Given the description of an element on the screen output the (x, y) to click on. 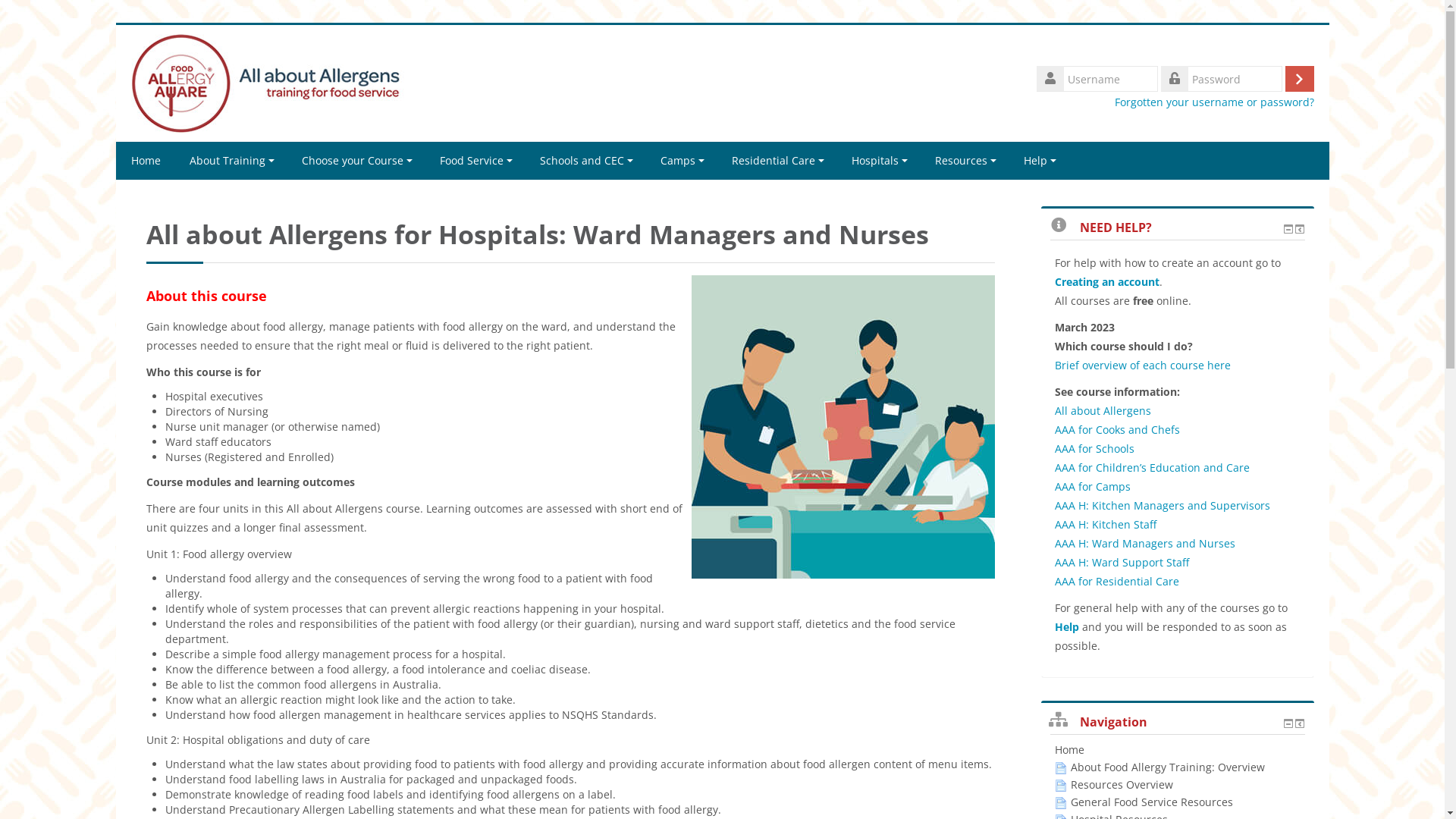
Creating an account Element type: text (1106, 281)
Home Element type: hover (270, 82)
Brief overview of each course here Element type: text (1142, 364)
All about Allergens Element type: text (1102, 410)
Page Element type: hover (1060, 785)
Page Element type: hover (1060, 803)
AAA for Cooks and Chefs Element type: text (1116, 429)
AAA for Residential Care Element type: text (1116, 581)
About Training Element type: text (231, 160)
Resources Element type: text (964, 160)
AAA H: Ward Support Staff Element type: text (1121, 562)
Hide Navigation block Element type: hover (1287, 723)
Food Service Element type: text (476, 160)
Home Element type: text (1068, 749)
Schools and CEC Element type: text (586, 160)
Page Element type: hover (1060, 768)
Log in Element type: text (1298, 78)
General Food Service Resources Element type: text (1143, 801)
About Food Allergy Training: Overview Element type: text (1159, 766)
AAA for Camps Element type: text (1091, 486)
Forgotten your username or password? Element type: text (1214, 102)
AAA H: Kitchen Staff Element type: text (1104, 524)
AAA H: Kitchen Managers and Supervisors Element type: text (1161, 505)
Choose your Course Element type: text (357, 160)
Dock NEED HELP? block Element type: hover (1299, 228)
AAA for Schools Element type: text (1093, 448)
Home Element type: text (145, 160)
Hospitals Element type: text (878, 160)
Help Element type: text (1040, 160)
Camps Element type: text (681, 160)
AAA H: Ward Managers and Nurses Element type: text (1144, 543)
Resources Overview Element type: text (1113, 784)
Residential Care Element type: text (777, 160)
Hide NEED HELP? block Element type: hover (1287, 228)
Dock Navigation block Element type: hover (1299, 723)
Help Element type: text (1066, 626)
